Given the description of an element on the screen output the (x, y) to click on. 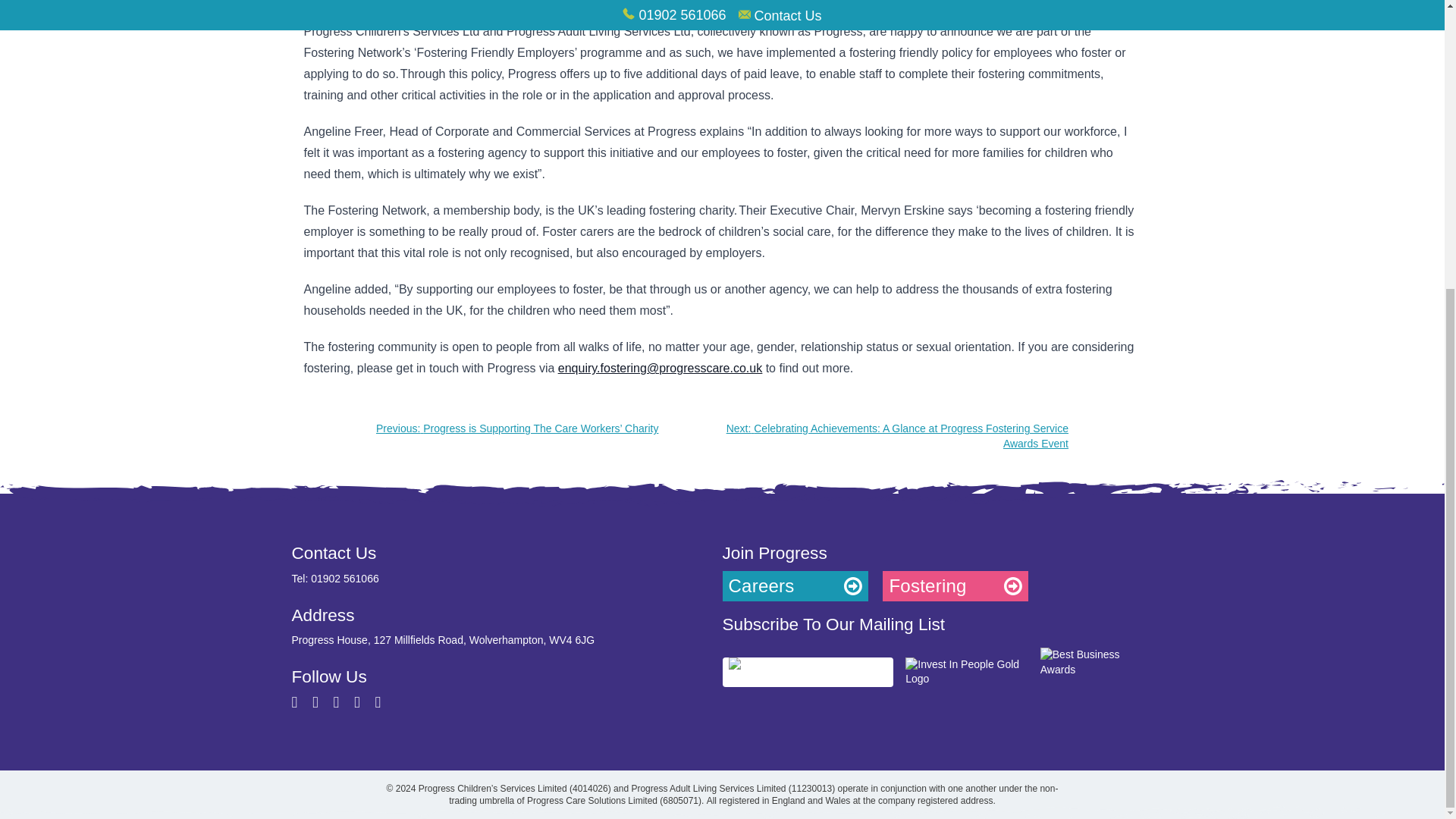
Twitter (295, 703)
Youtube (358, 703)
LinkedIn (377, 703)
Facebook (316, 703)
Instagram (338, 703)
